Given the description of an element on the screen output the (x, y) to click on. 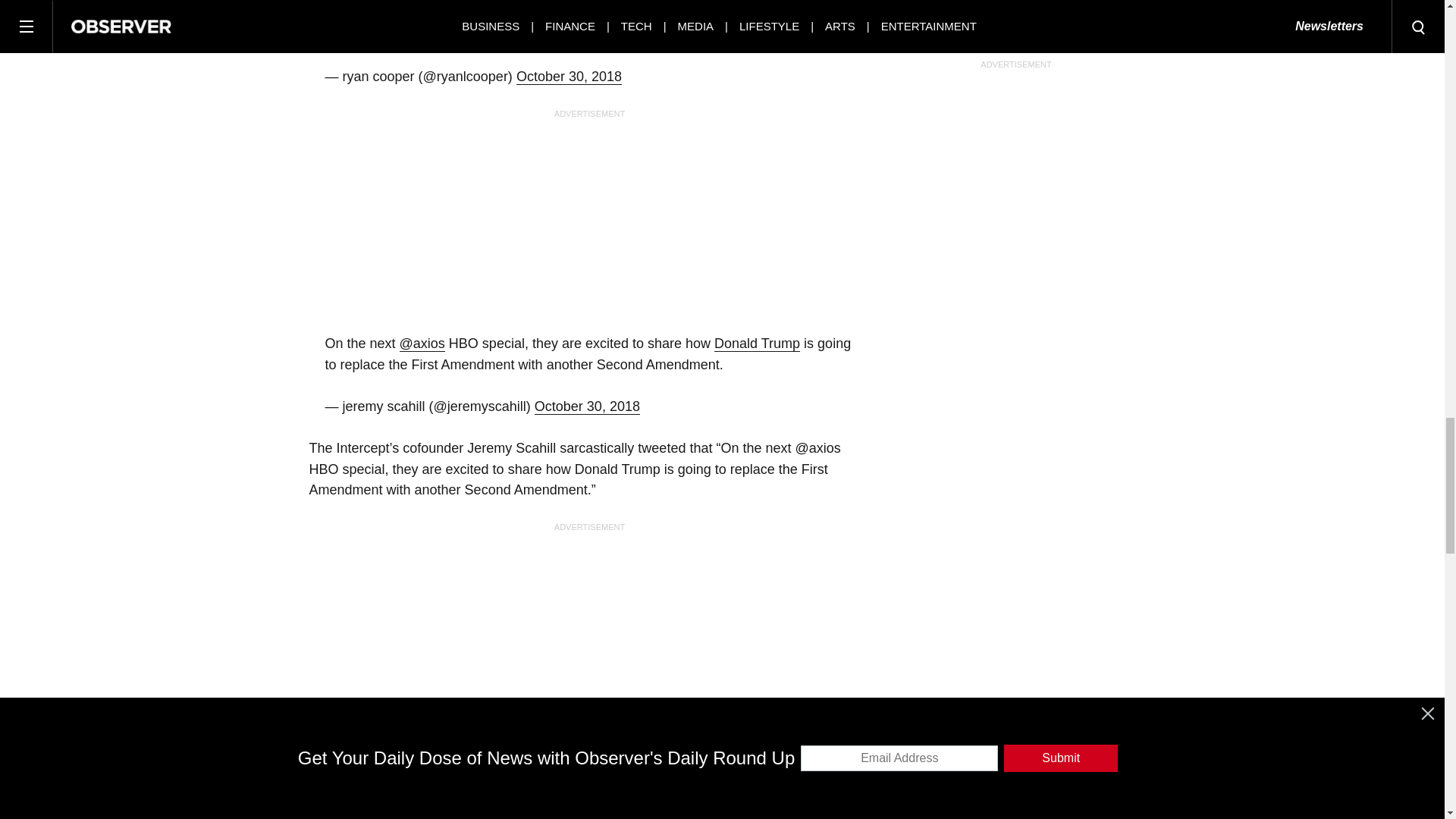
Donald Trump (756, 343)
